Given the description of an element on the screen output the (x, y) to click on. 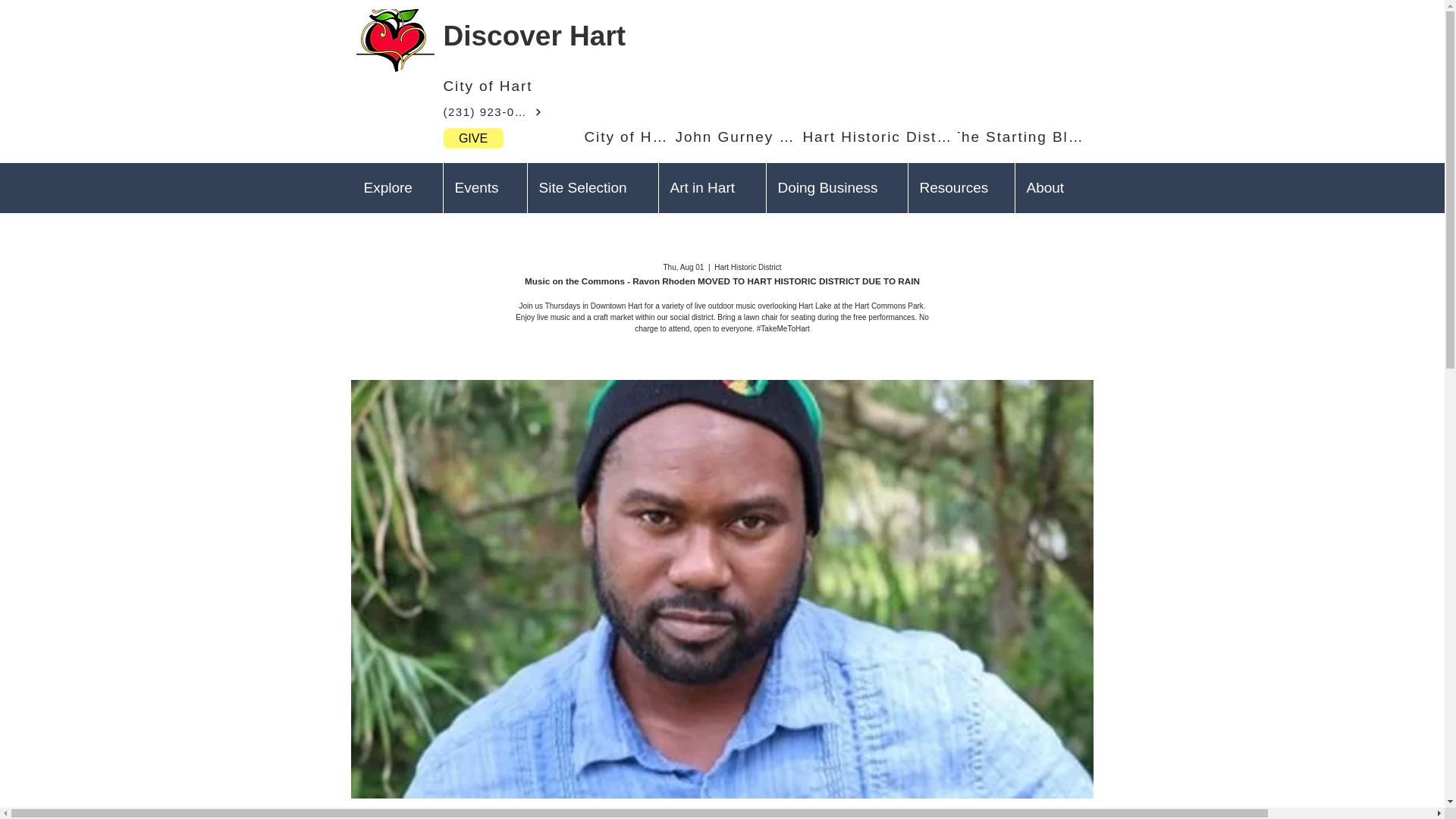
City of Hart (516, 86)
The Starting Block (1018, 137)
Events (484, 187)
Discover Hart (534, 35)
GIVE (472, 137)
